Given the description of an element on the screen output the (x, y) to click on. 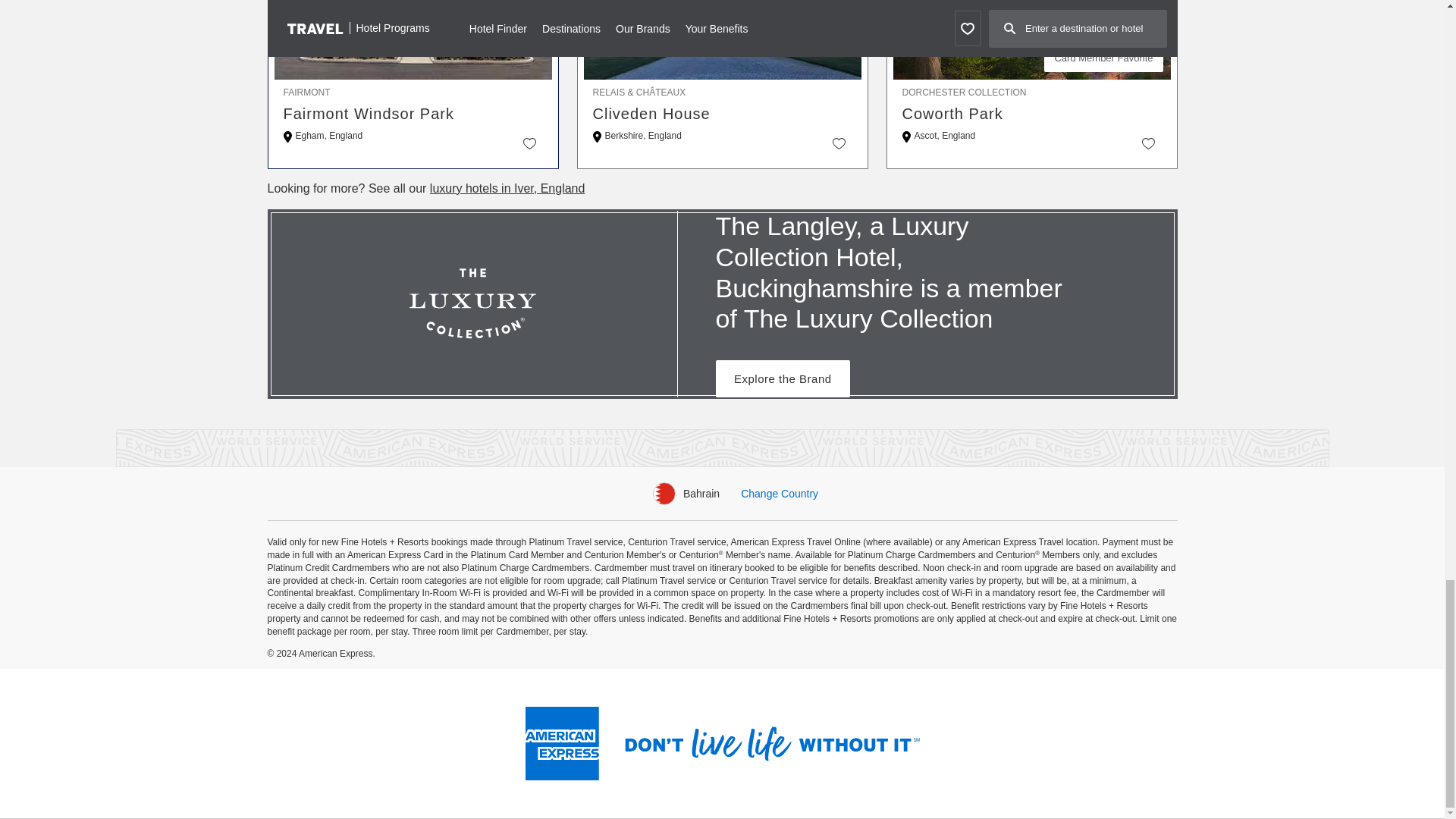
Cliveden House (721, 113)
luxury hotels in Iver, England (507, 187)
Coworth Park (1031, 113)
Fairmont Windsor Park (413, 113)
Explore the Brand (783, 378)
Change Country (779, 493)
